Given the description of an element on the screen output the (x, y) to click on. 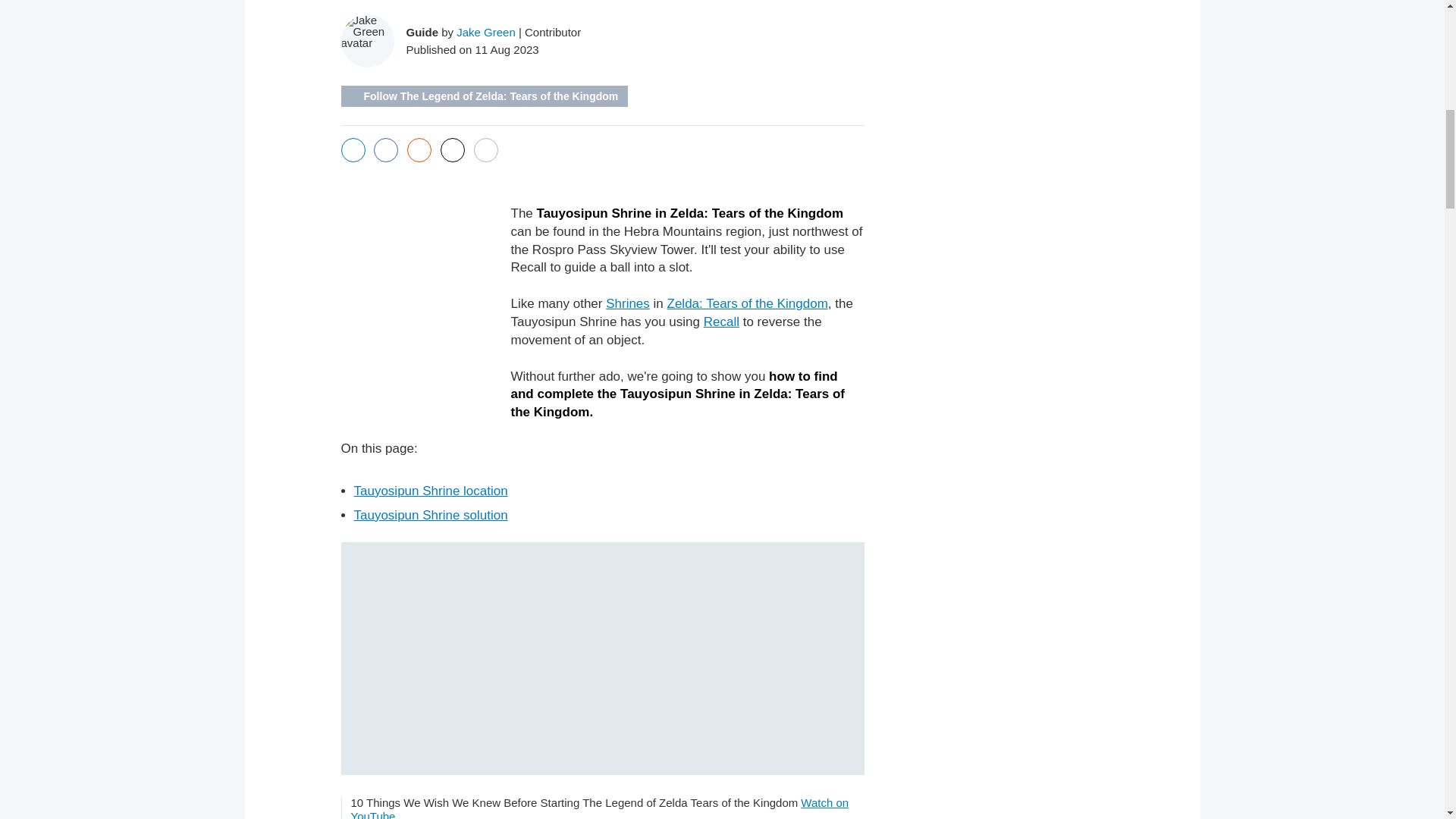
Watch on YouTube (599, 807)
Tauyosipun Shrine location (429, 490)
Shrines (627, 303)
Tauyosipun Shrine solution (429, 514)
Zelda: Tears of the Kingdom (747, 303)
Recall (721, 321)
Follow The Legend of Zelda: Tears of the Kingdom (484, 96)
Jake Green (486, 31)
